Given the description of an element on the screen output the (x, y) to click on. 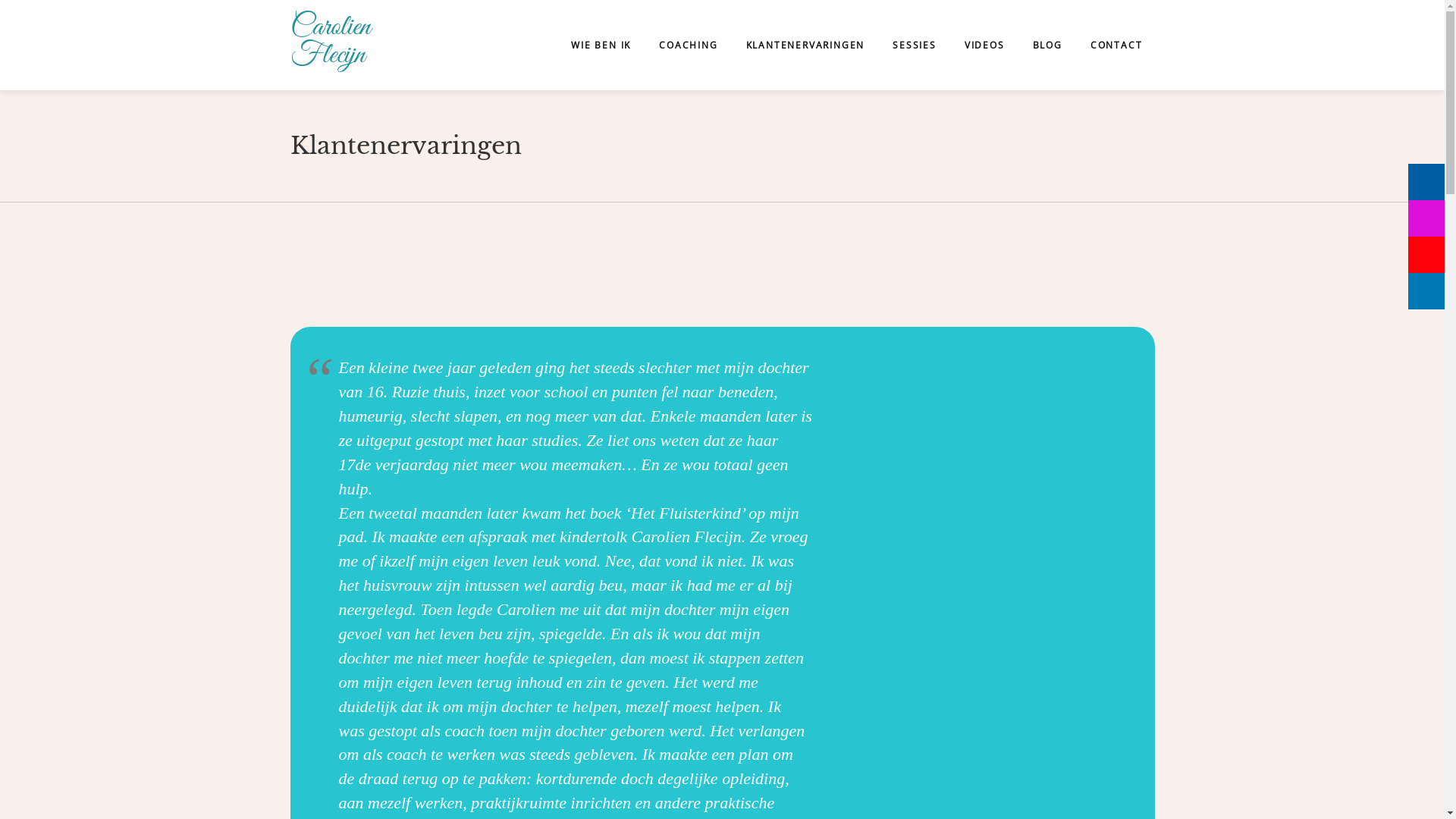
KLANTENERVARINGEN Element type: text (805, 45)
VIDEOS Element type: text (984, 45)
WIE BEN IK Element type: text (600, 45)
Carolien LinkedIn page Element type: hover (1426, 291)
CONTACT Element type: text (1116, 45)
COACHING Element type: text (687, 45)
BLOG Element type: text (1047, 45)
SESSIES Element type: text (914, 45)
Carolien Instagram page Element type: hover (1426, 218)
Carolien Youtube page Element type: hover (1426, 254)
Carolien Flecijn Element type: text (337, 44)
Carolien Facebook page Element type: hover (1426, 181)
